Given the description of an element on the screen output the (x, y) to click on. 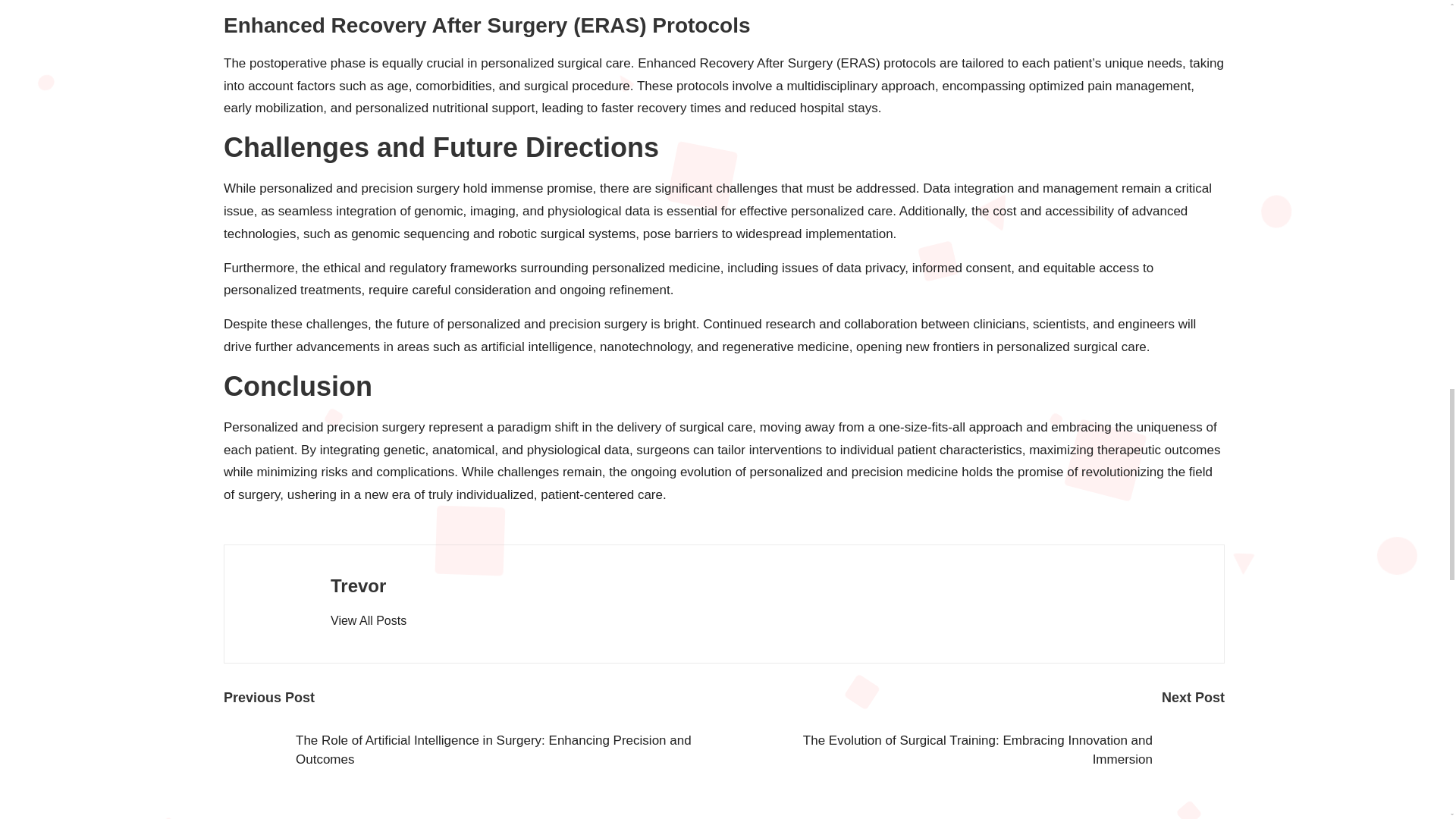
View All Posts (368, 620)
Trevor (357, 585)
